Given the description of an element on the screen output the (x, y) to click on. 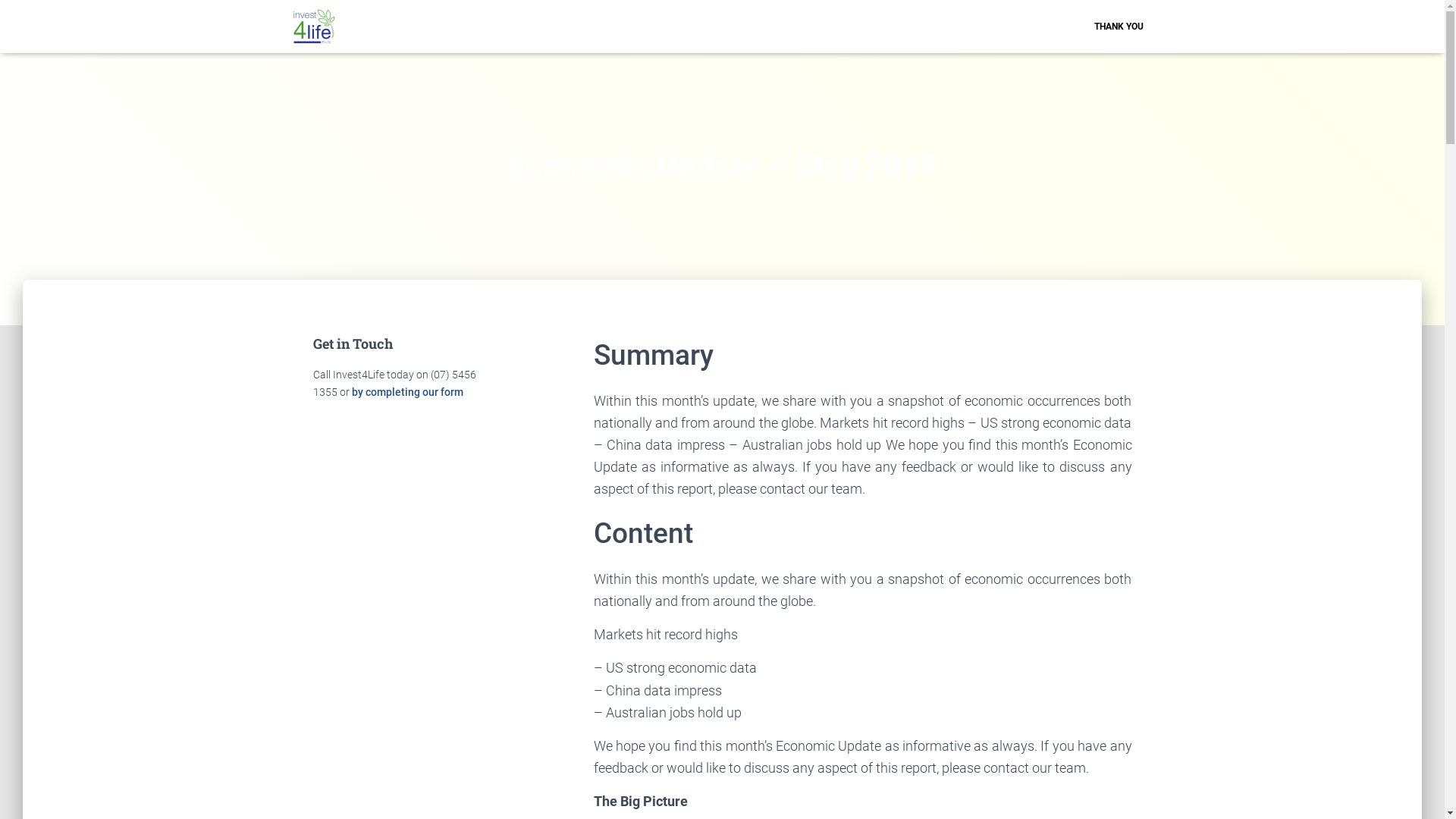
by completing our form Element type: text (407, 391)
THANK YOU Element type: text (1118, 26)
Thank you from the Invest4Life team Element type: hover (313, 26)
